Given the description of an element on the screen output the (x, y) to click on. 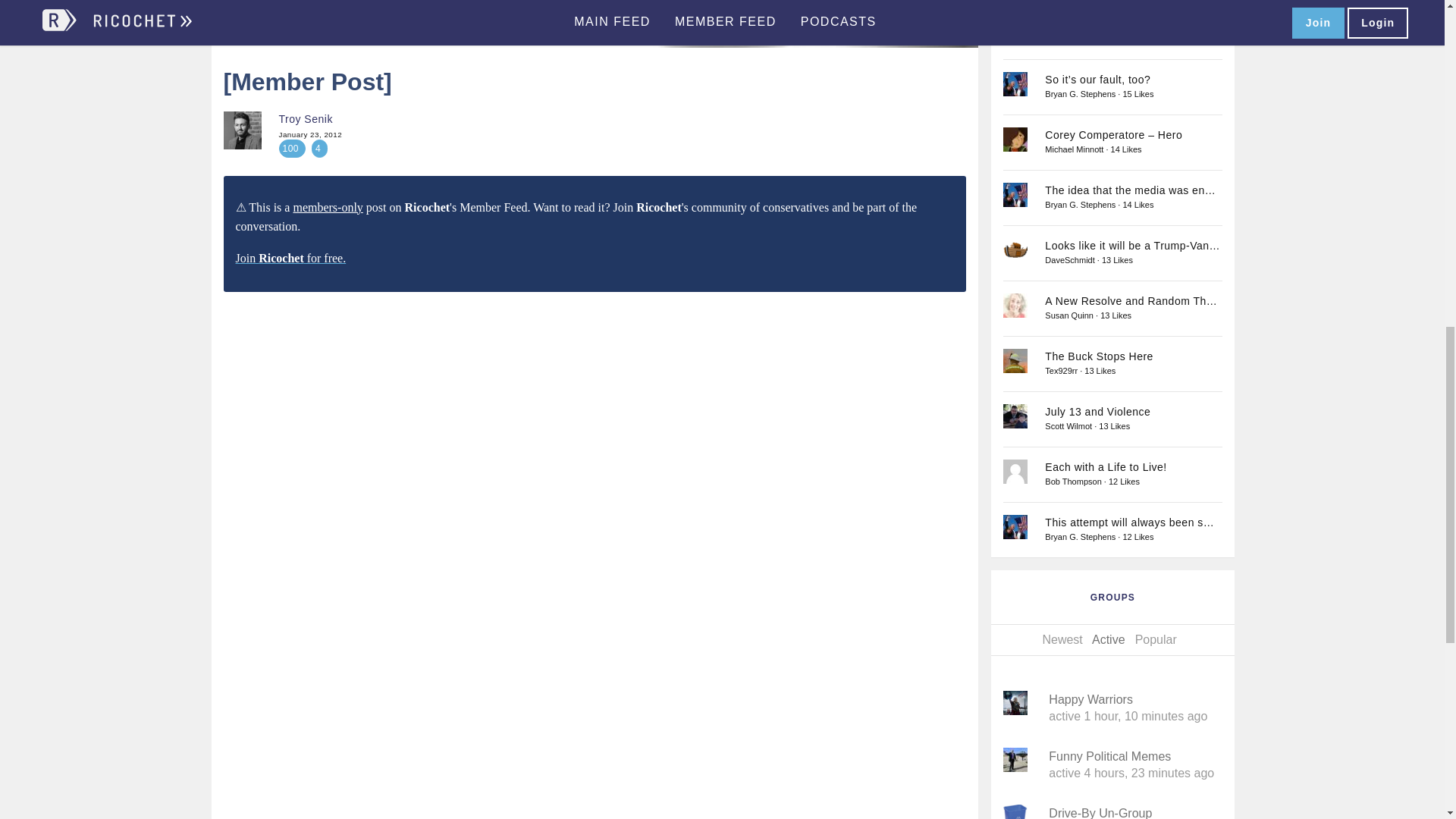
100 Comments (292, 148)
Troy Senik (241, 130)
